Given the description of an element on the screen output the (x, y) to click on. 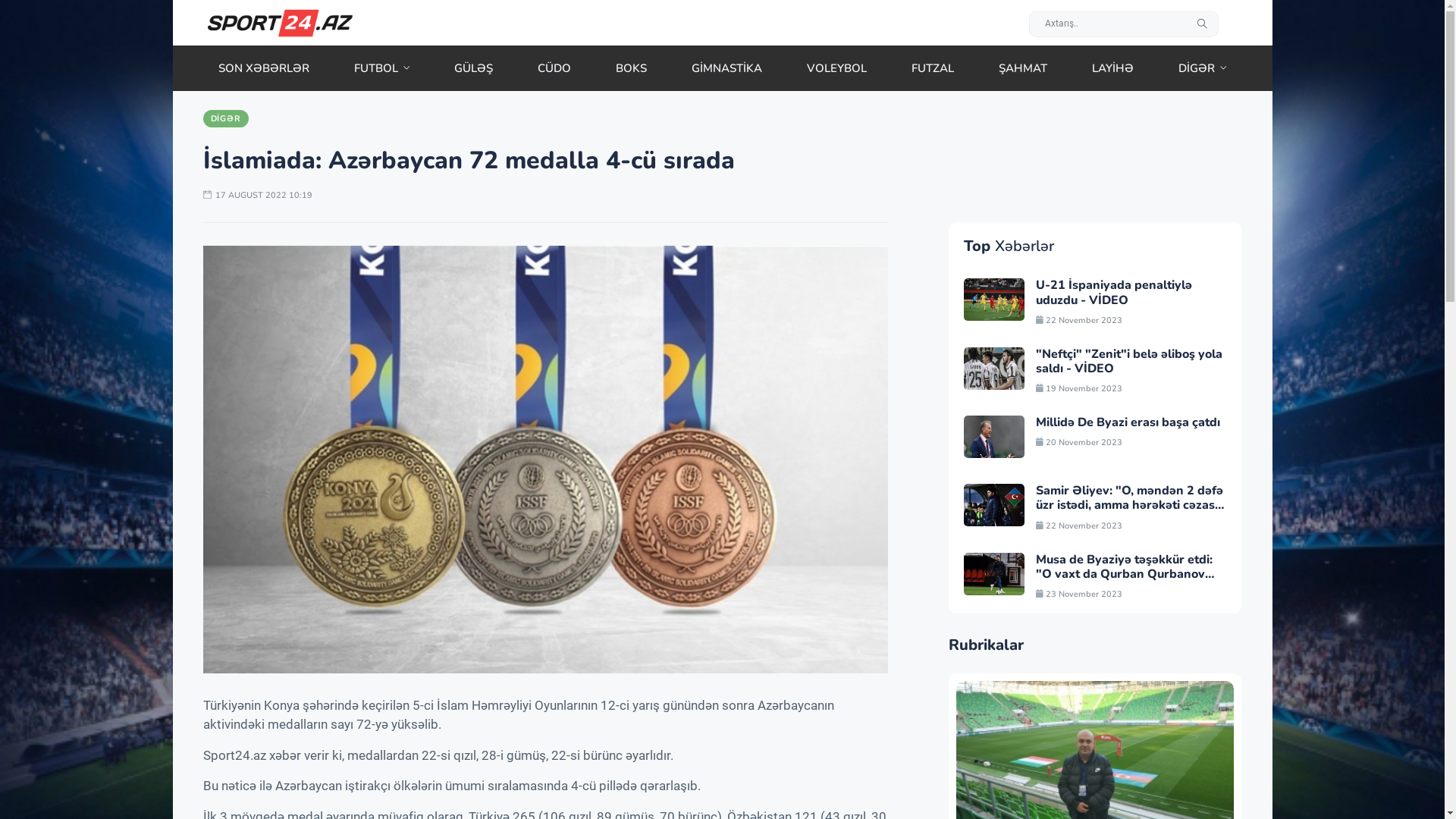
VOLEYBOL Element type: text (836, 68)
GIMNASTIKA Element type: text (726, 68)
FUTBOL Element type: text (381, 68)
FUTZAL Element type: text (932, 68)
BOKS Element type: text (630, 68)
